Given the description of an element on the screen output the (x, y) to click on. 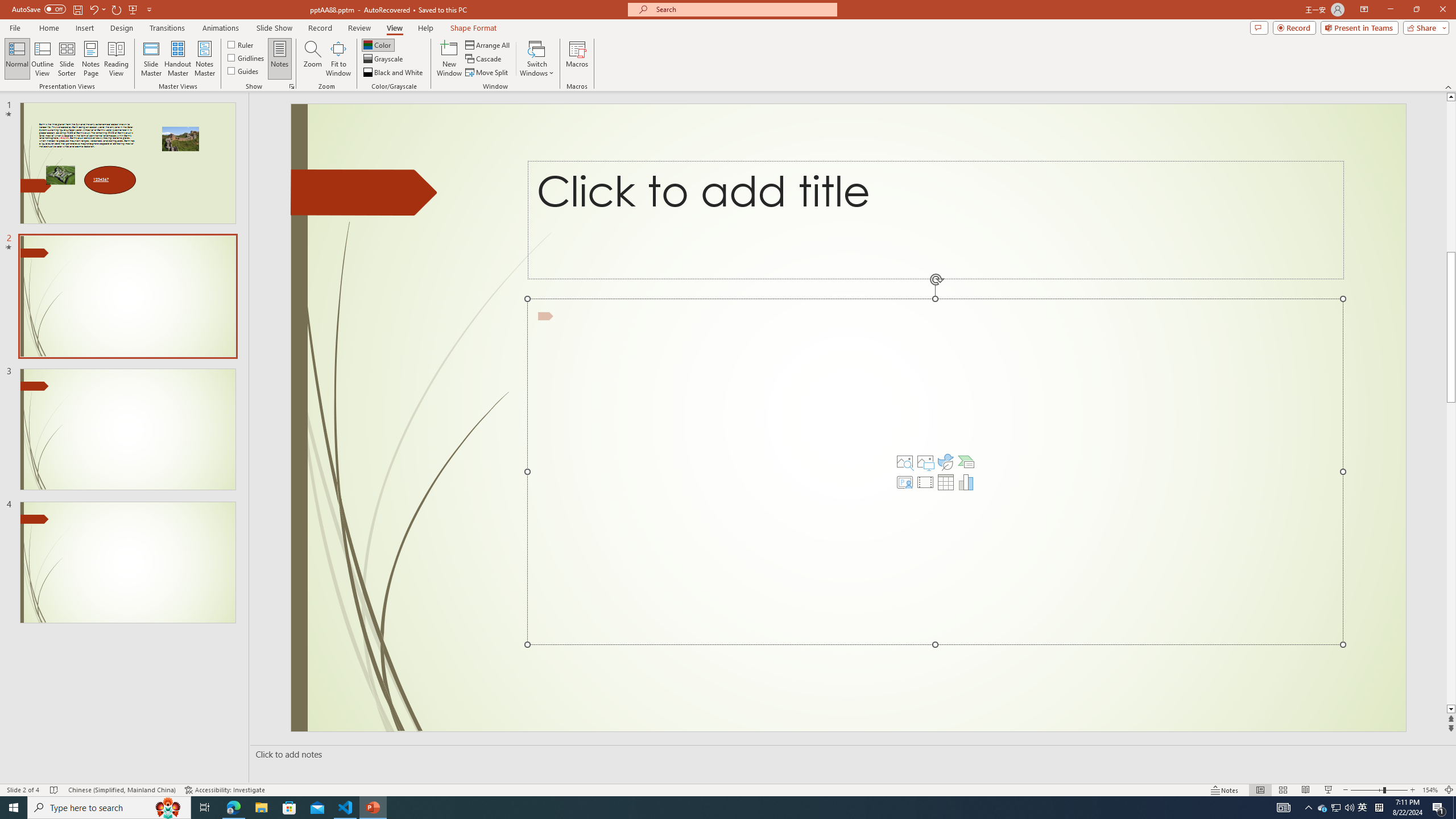
Switch Windows (537, 58)
